Given the description of an element on the screen output the (x, y) to click on. 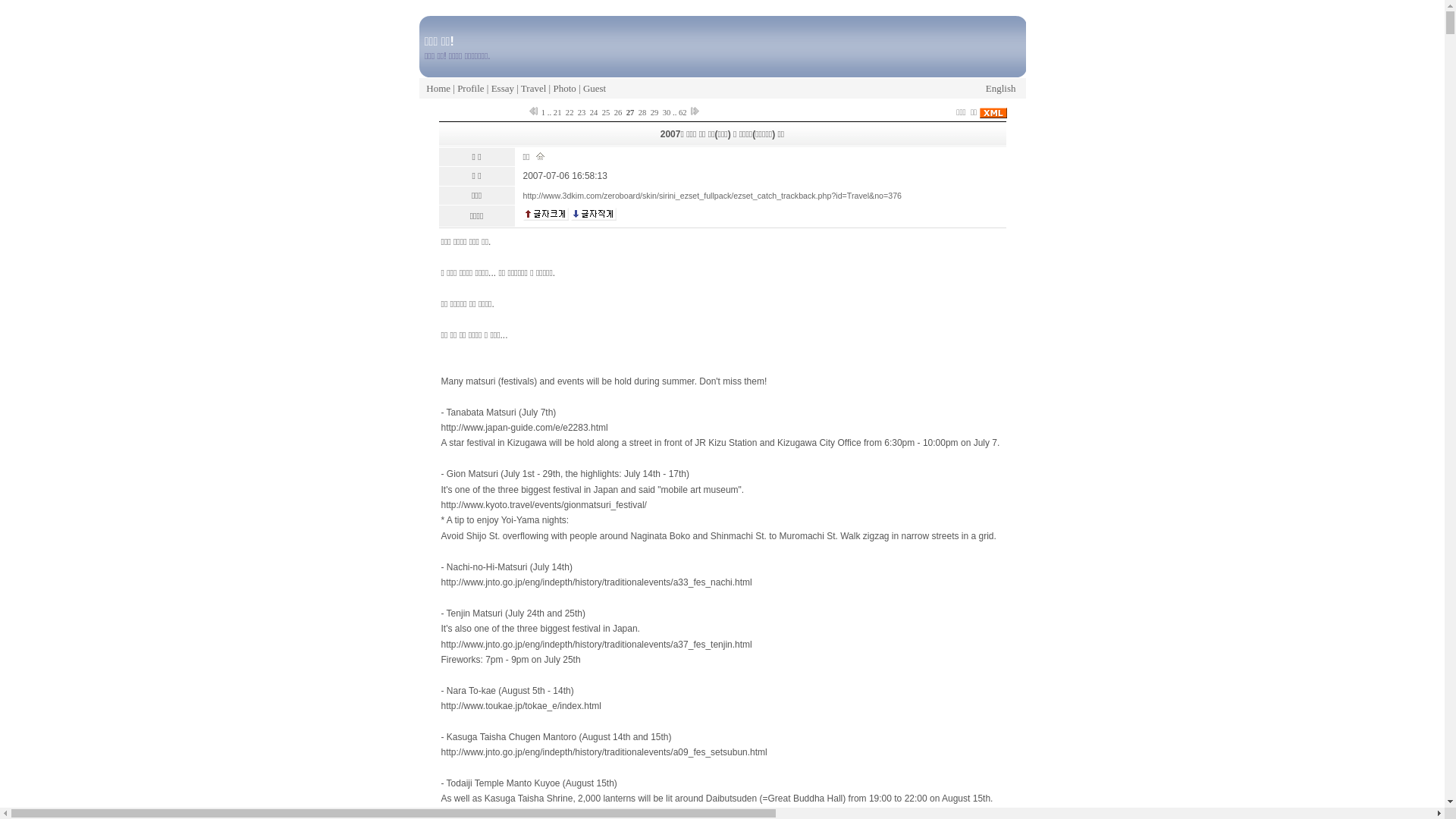
Home Element type: text (438, 88)
 21  Element type: text (557, 112)
Guest Element type: text (594, 88)
Profile Element type: text (470, 88)
Essay Element type: text (502, 88)
 29  Element type: text (654, 112)
 24  Element type: text (593, 112)
Travel Element type: text (533, 88)
 23  Element type: text (581, 112)
English Element type: text (1000, 88)
 26  Element type: text (617, 112)
 1  Element type: text (543, 112)
Photo Element type: text (563, 88)
 25  Element type: text (605, 112)
 22  Element type: text (569, 112)
 30  Element type: text (666, 112)
 62  Element type: text (682, 112)
 28  Element type: text (642, 112)
